Given the description of an element on the screen output the (x, y) to click on. 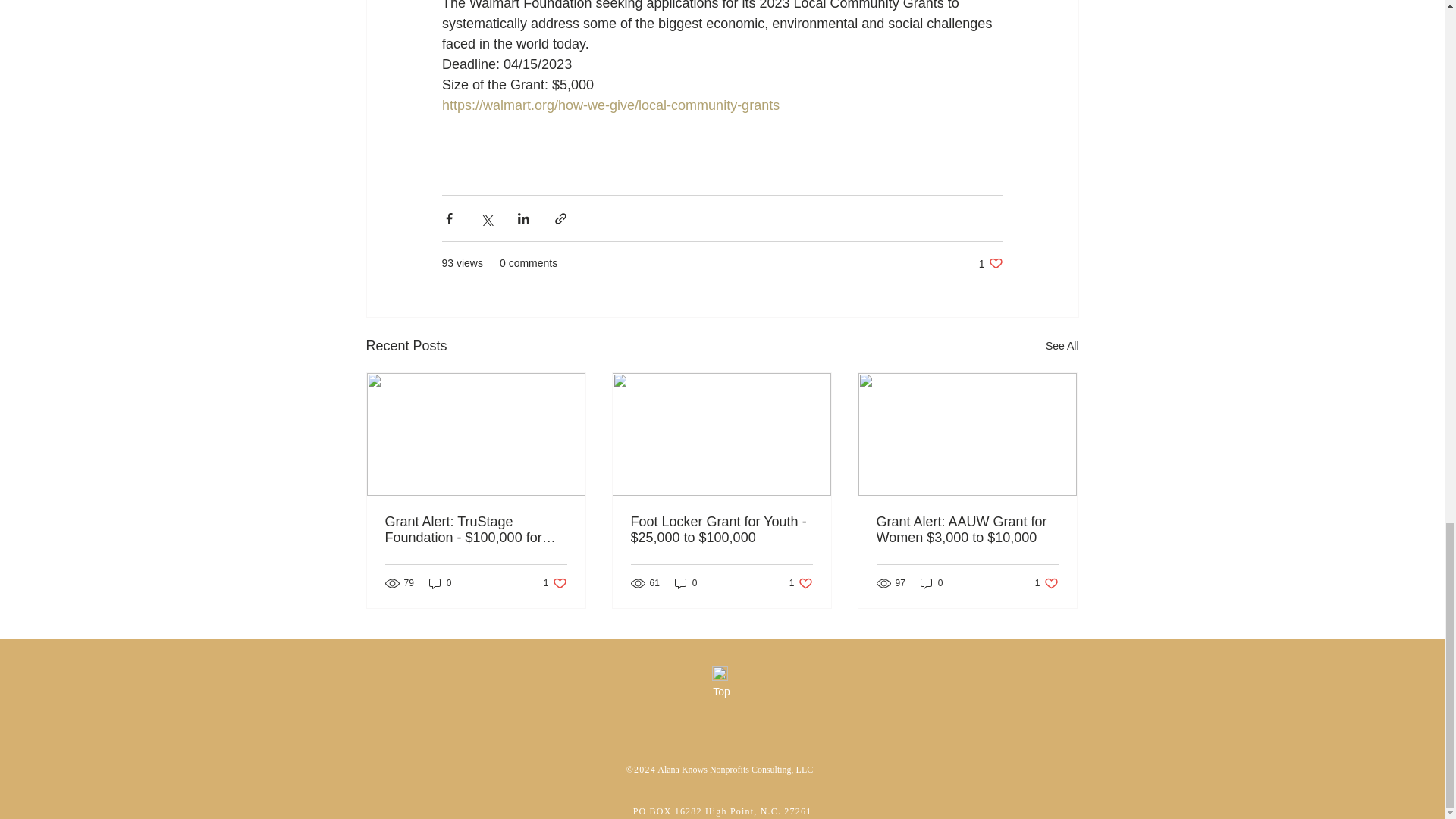
0 (931, 583)
0 (800, 583)
0 (555, 583)
See All (990, 263)
